Given the description of an element on the screen output the (x, y) to click on. 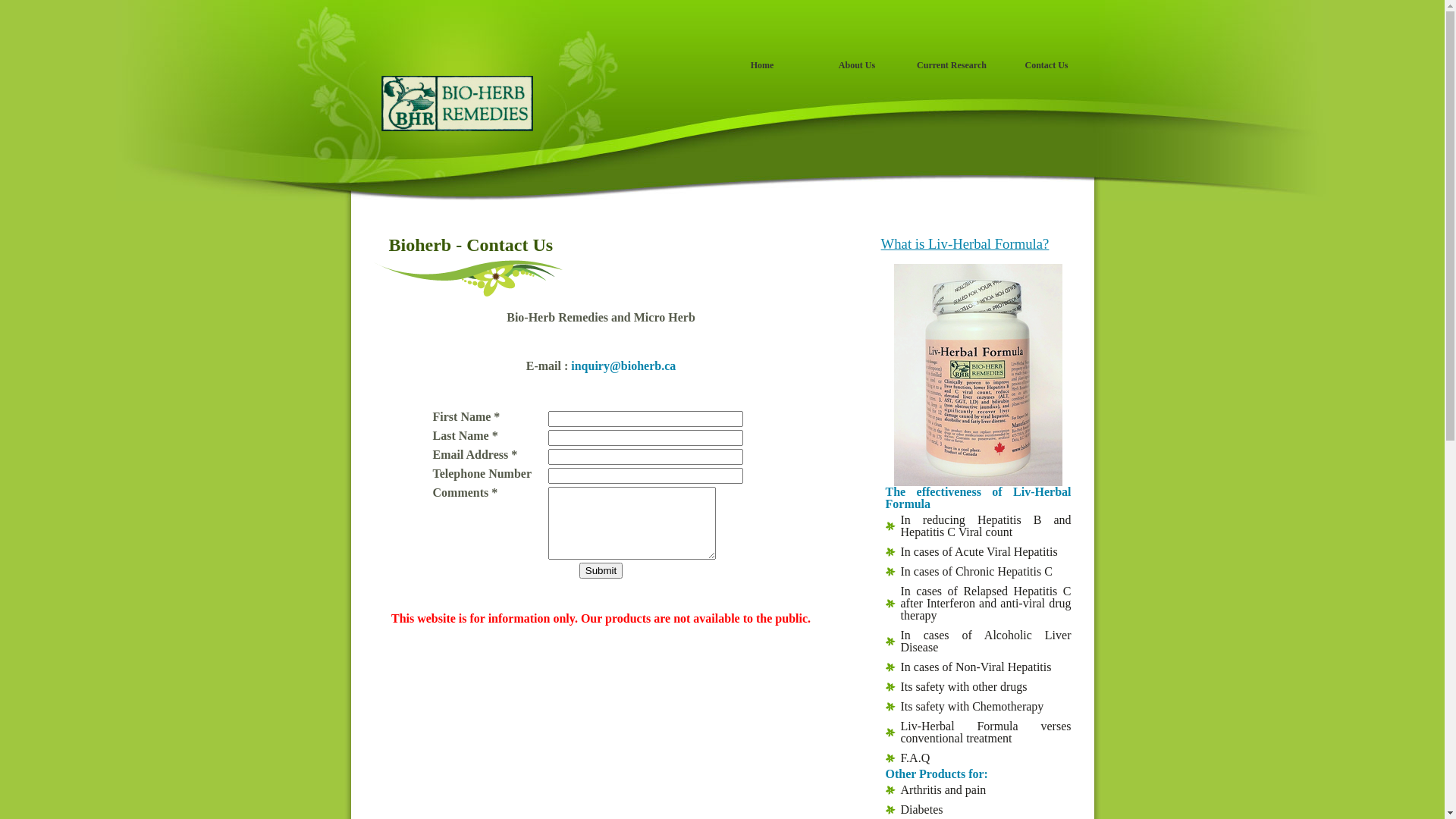
Current Research Element type: text (950, 69)
In reducing Hepatitis B and Hepatitis C Viral count Element type: text (978, 526)
Arthritis and pain Element type: text (978, 790)
Liv-Herbal Formula verses conventional treatment Element type: text (978, 732)
Its safety with Chemotherapy Element type: text (978, 706)
F.A.Q Element type: text (978, 758)
inquiry@bioherb.ca Element type: text (623, 365)
Home Element type: text (761, 69)
In cases of Acute Viral Hepatitis Element type: text (978, 551)
In cases of Alcoholic Liver Disease Element type: text (978, 641)
In cases of Chronic Hepatitis C Element type: text (978, 571)
What is Liv-Herbal Formula? Element type: text (964, 244)
Its safety with other drugs Element type: text (978, 686)
Submit Element type: text (600, 570)
In cases of Non-Viral Hepatitis Element type: text (978, 667)
Contact Us Element type: text (1046, 69)
About Us Element type: text (856, 69)
